Given the description of an element on the screen output the (x, y) to click on. 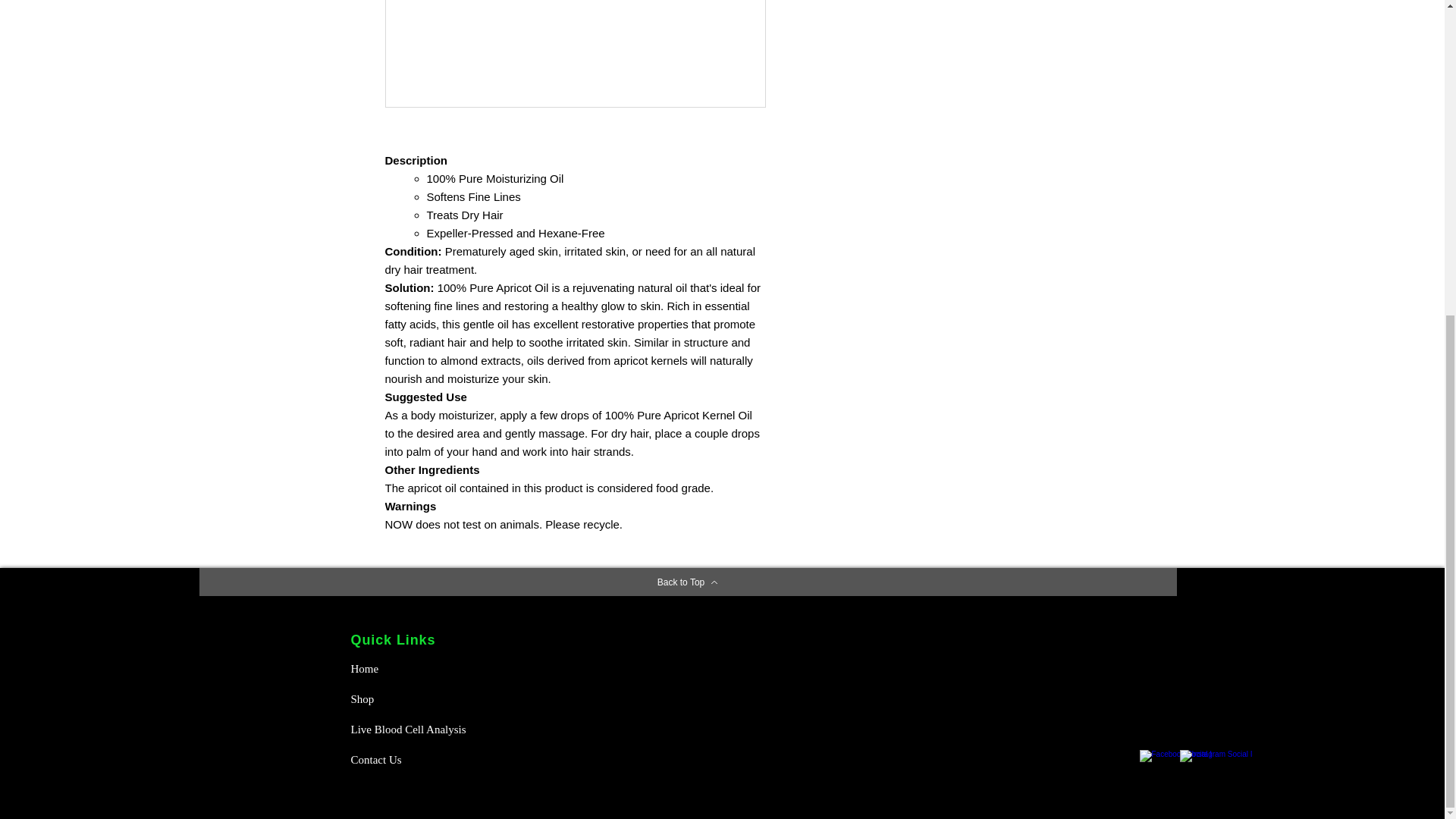
Contact Us (403, 759)
Home (403, 668)
Shop (403, 698)
Live Blood Cell Analysis (412, 729)
Back to Top (687, 582)
